Given the description of an element on the screen output the (x, y) to click on. 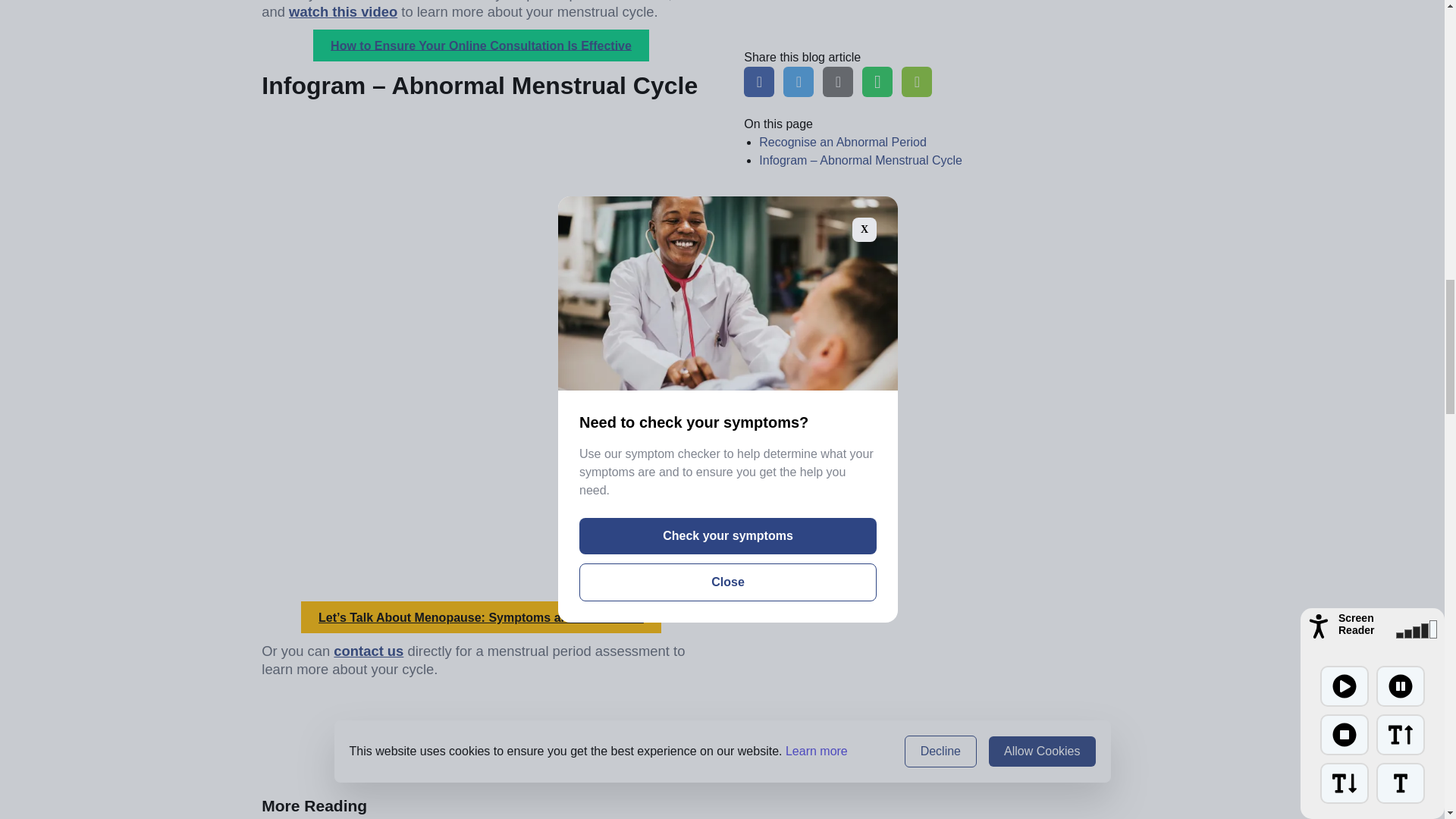
contact us (368, 650)
watch this video (342, 11)
How to Ensure Your Online Consultation Is Effective (481, 45)
